Given the description of an element on the screen output the (x, y) to click on. 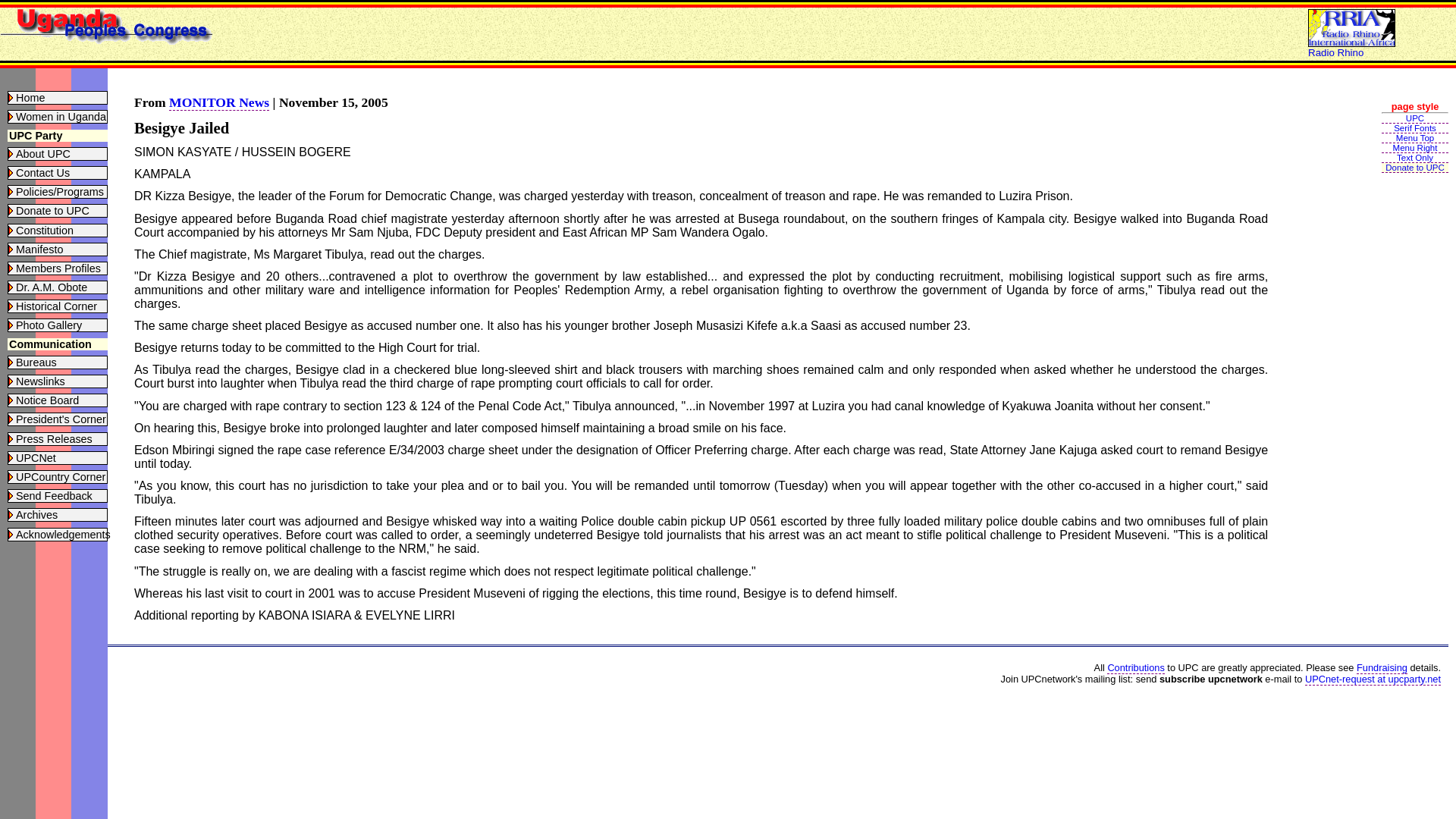
Text Only (1414, 157)
MONITOR News (218, 102)
Donate to UPC (1414, 167)
Send Feedback (54, 495)
Notice Board (47, 399)
Historical Corner (56, 306)
UPC (1414, 118)
Contact Us (42, 173)
About UPC (42, 153)
Women in Uganda (61, 116)
Fundraising (1381, 667)
Archives (37, 514)
Bureaus (36, 362)
President's Corner (61, 419)
UPCnet-request at upcparty.net (1372, 679)
